Given the description of an element on the screen output the (x, y) to click on. 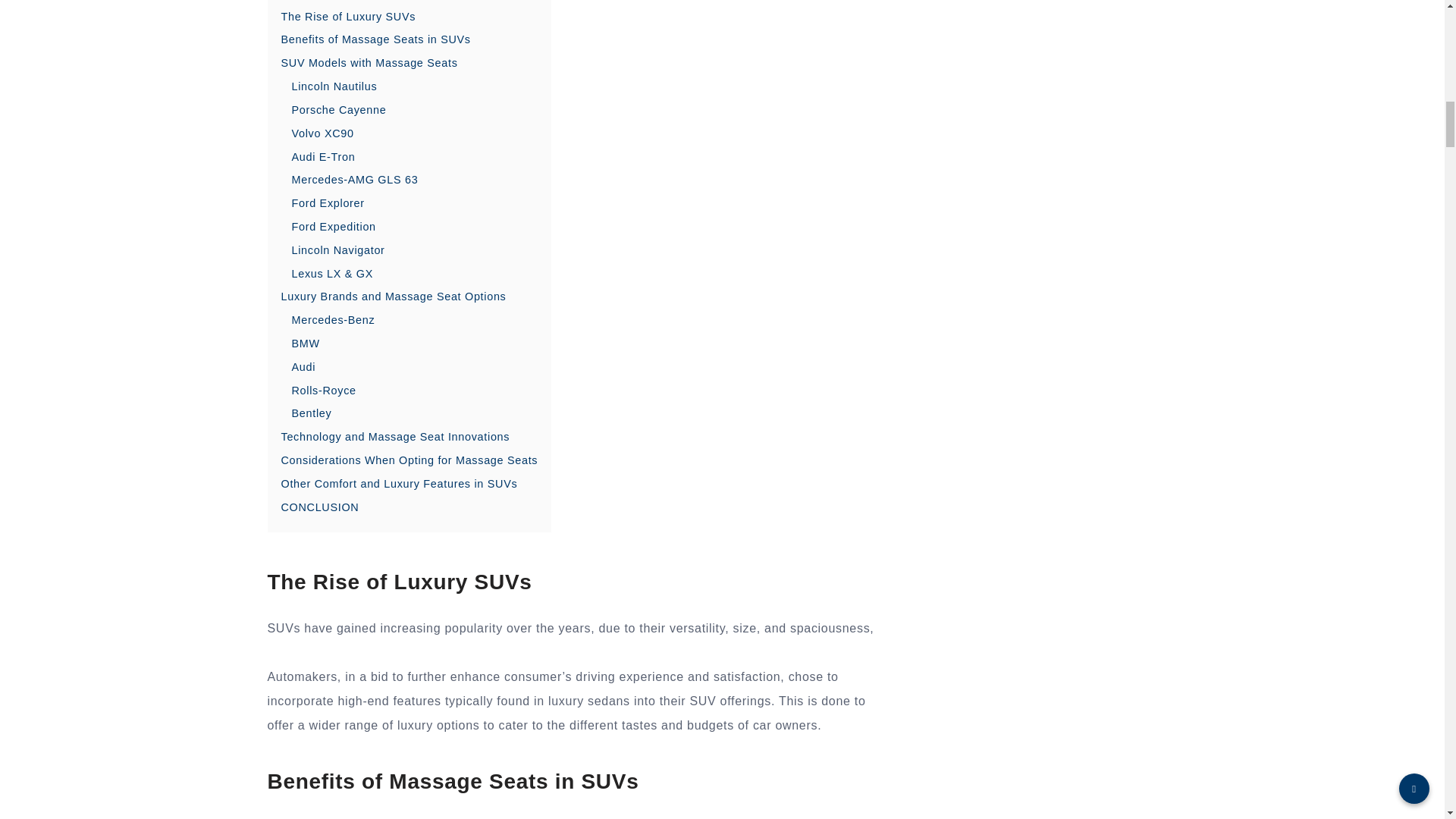
Audi E-Tron (323, 156)
Porsche Cayenne (338, 110)
SUV Models with Massage Seats (369, 62)
Lincoln Nautilus (334, 86)
The Rise of Luxury SUVs (347, 16)
Volvo XC90 (322, 133)
Benefits of Massage Seats in SUVs (375, 39)
